Given the description of an element on the screen output the (x, y) to click on. 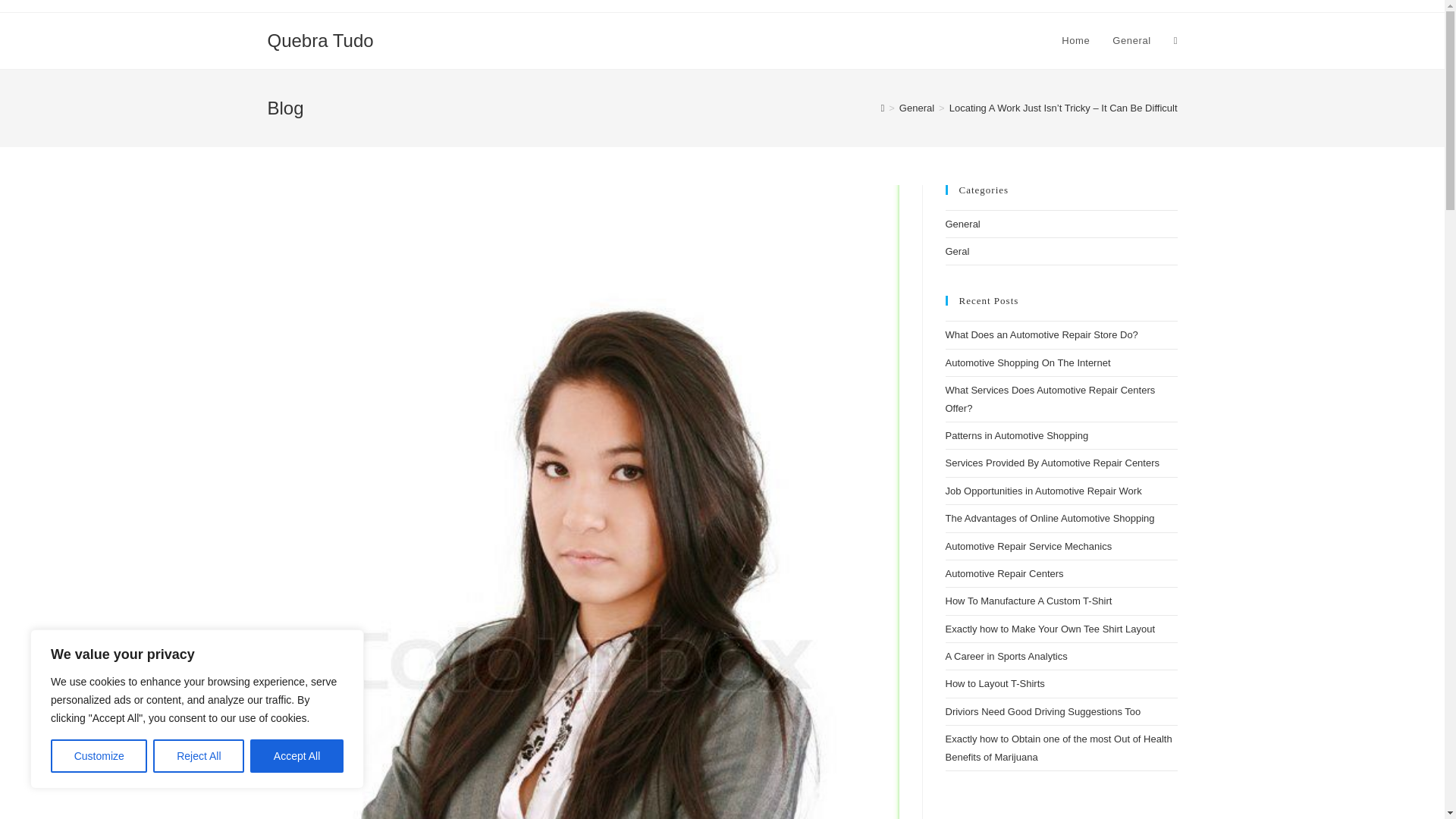
Quebra Tudo (319, 40)
Home (1074, 40)
Customize (98, 756)
General (916, 107)
General (1130, 40)
Reject All (198, 756)
Accept All (296, 756)
